Given the description of an element on the screen output the (x, y) to click on. 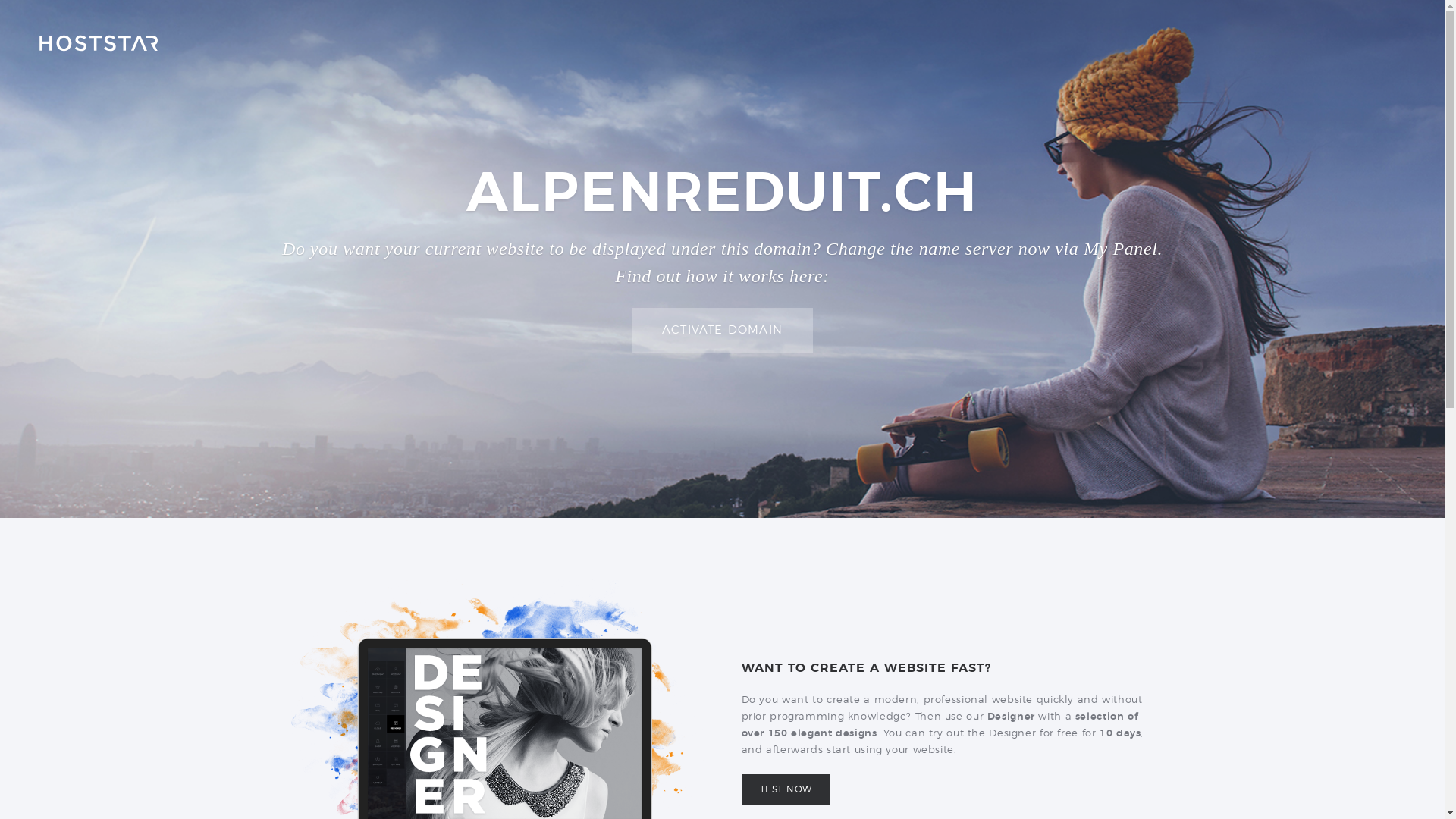
ACTIVATE DOMAIN Element type: text (721, 330)
ACTIVATE DOMAIN Element type: text (721, 330)
TEST NOW Element type: text (785, 789)
